Given the description of an element on the screen output the (x, y) to click on. 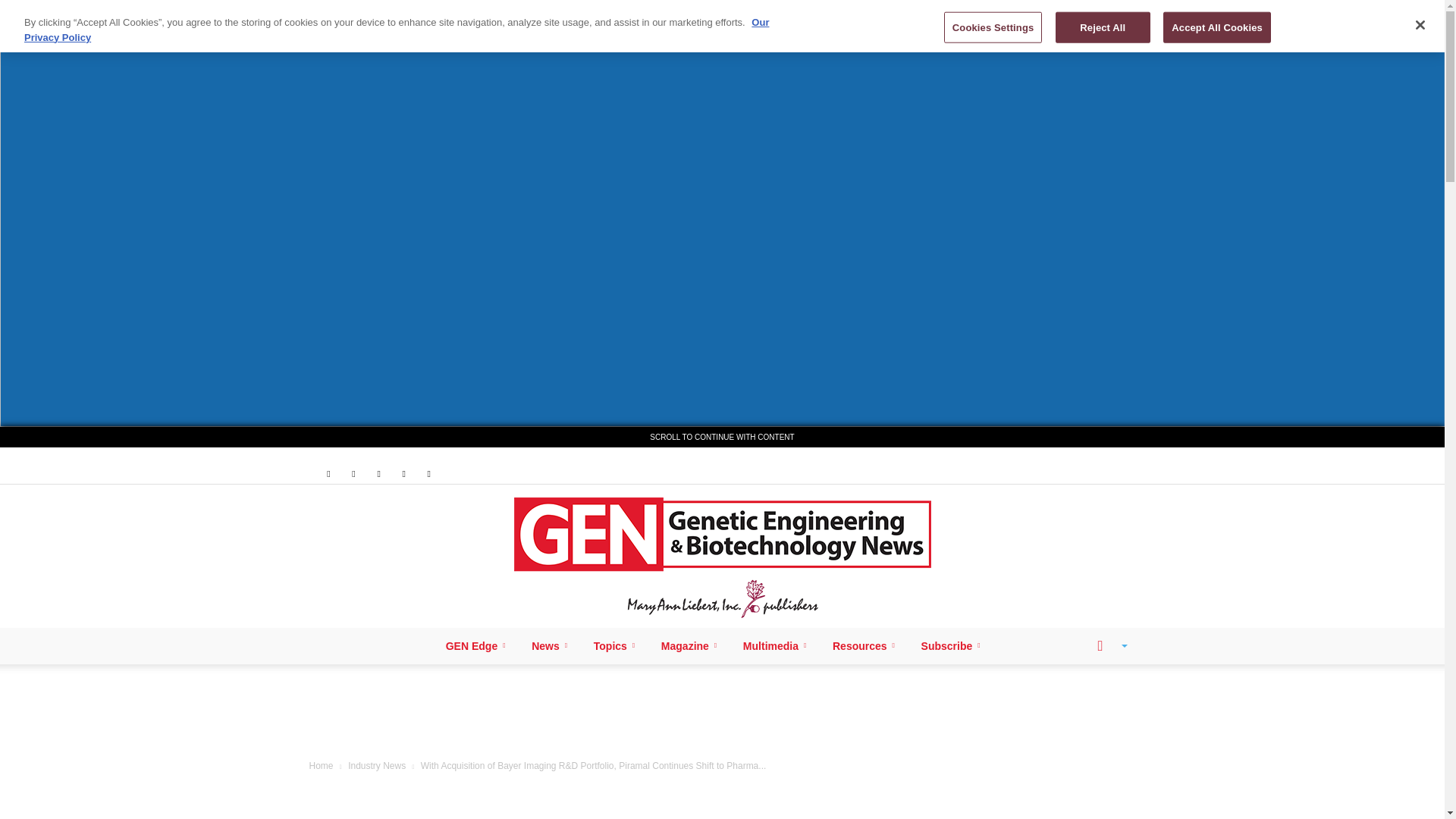
Linkedin (353, 473)
RSS (379, 473)
Youtube (429, 473)
3rd party ad content (722, 713)
Twitter (403, 473)
Facebook (328, 473)
